Given the description of an element on the screen output the (x, y) to click on. 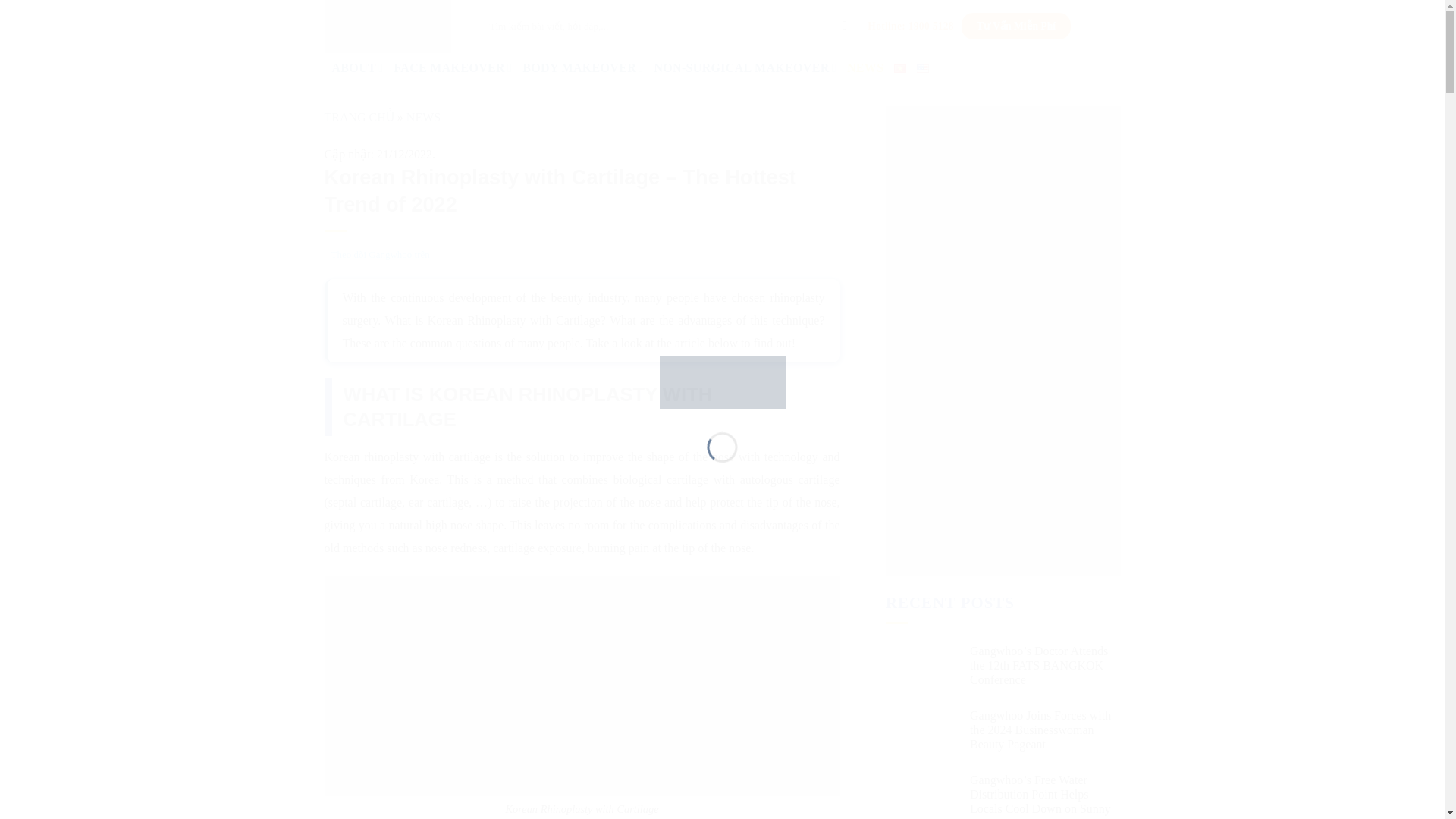
FACE MAKEOVER (452, 68)
Hotline: 1900 5128 (910, 26)
ABOUT (357, 68)
English (922, 67)
